Given the description of an element on the screen output the (x, y) to click on. 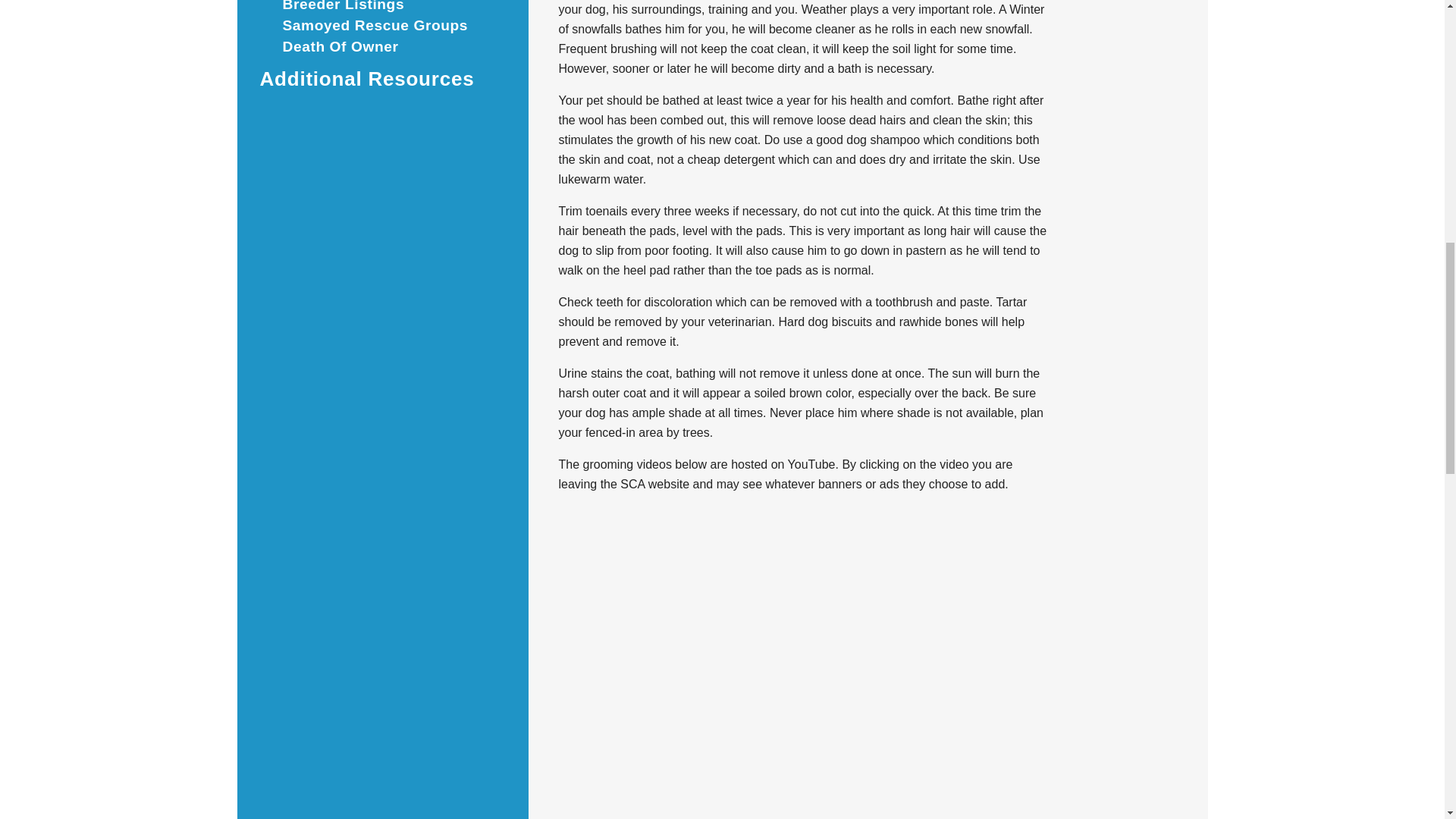
Death Of Owner (340, 46)
Additional Resources (366, 78)
Samoyed Rescue Groups (375, 25)
Breeder Listings (343, 6)
